Given the description of an element on the screen output the (x, y) to click on. 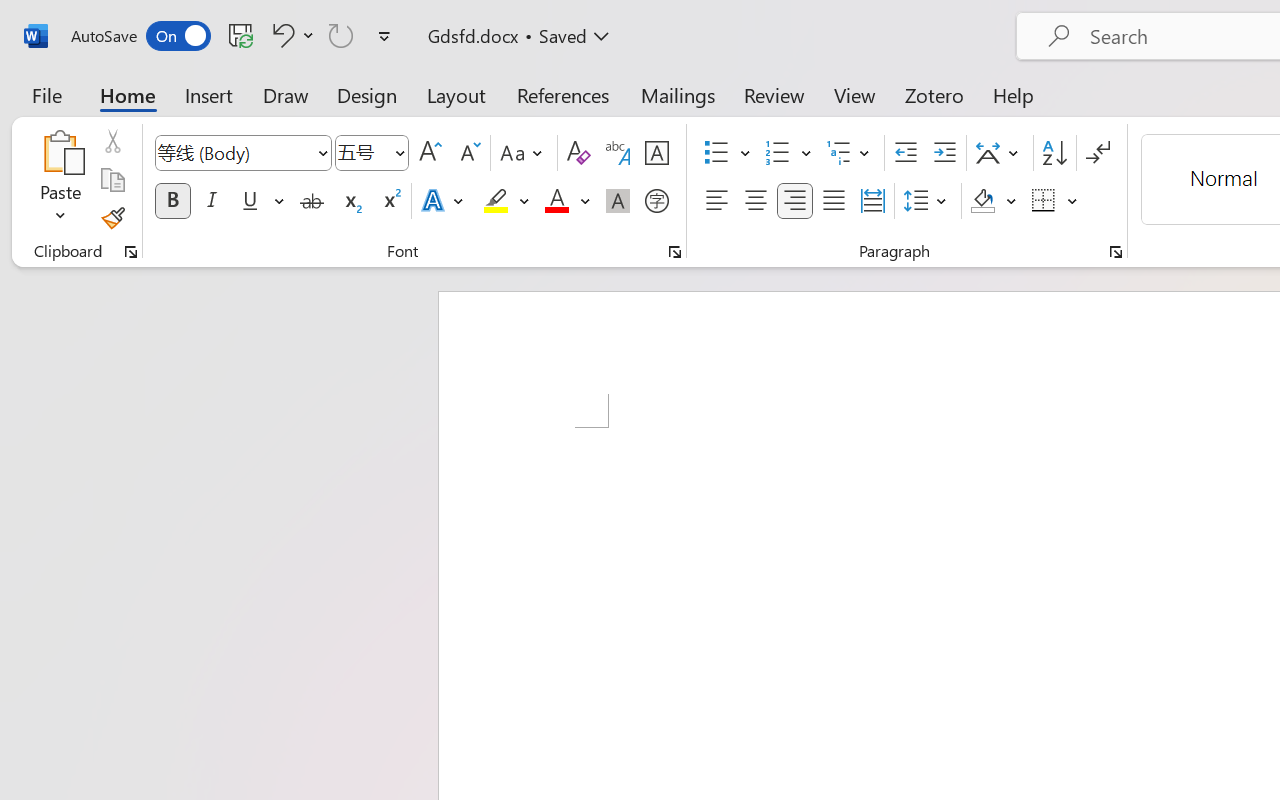
Subscript (350, 201)
Phonetic Guide... (618, 153)
Grow Font (430, 153)
Font... (675, 252)
Shading RGB(0, 0, 0) (982, 201)
Line and Paragraph Spacing (927, 201)
Decrease Indent (906, 153)
Shrink Font (468, 153)
